Given the description of an element on the screen output the (x, y) to click on. 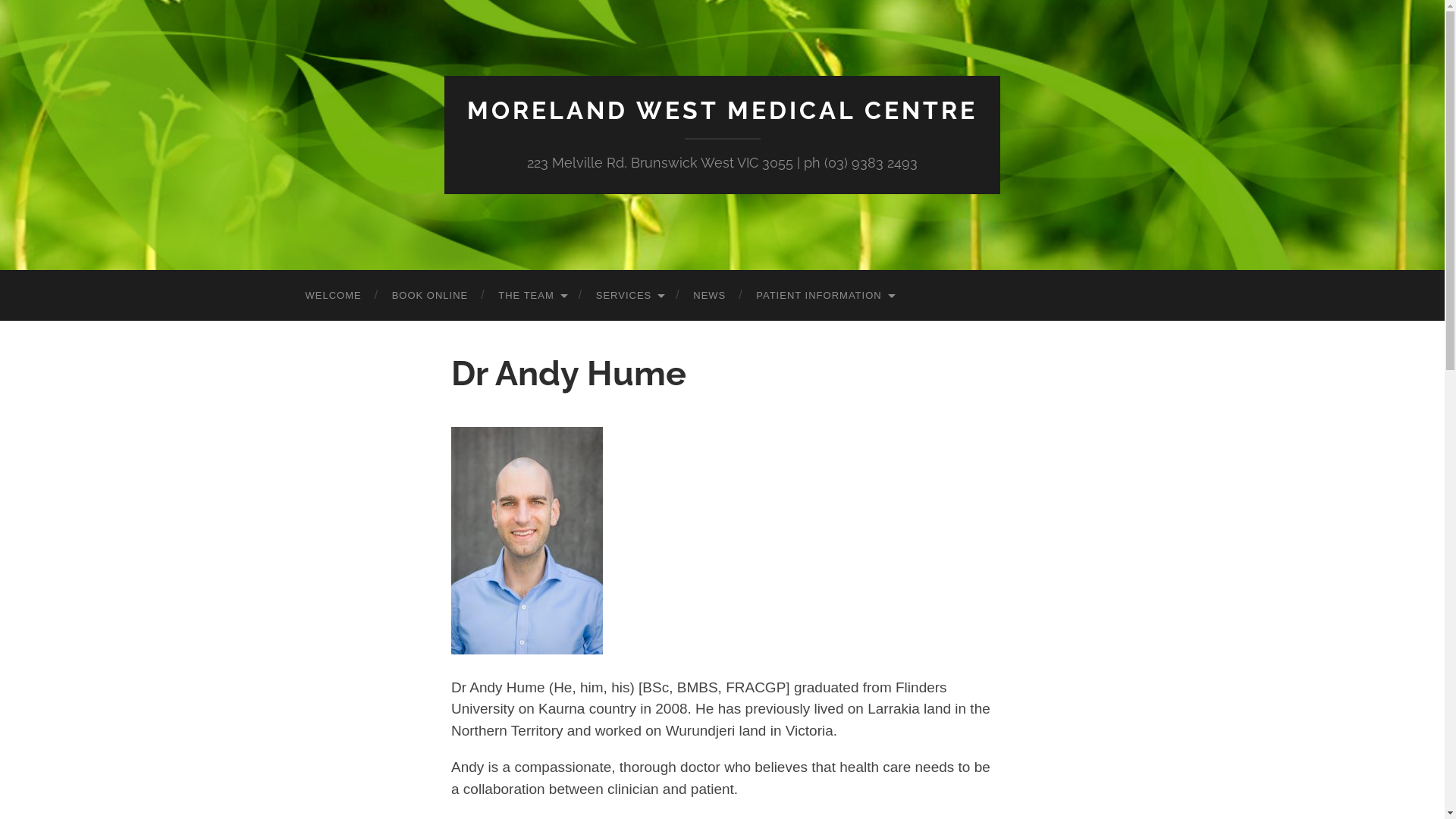
PATIENT INFORMATION Element type: text (823, 294)
BOOK ONLINE Element type: text (429, 294)
NEWS Element type: text (708, 294)
WELCOME Element type: text (332, 294)
SERVICES Element type: text (629, 294)
MORELAND WEST MEDICAL CENTRE Element type: text (722, 110)
THE TEAM Element type: text (531, 294)
